Given the description of an element on the screen output the (x, y) to click on. 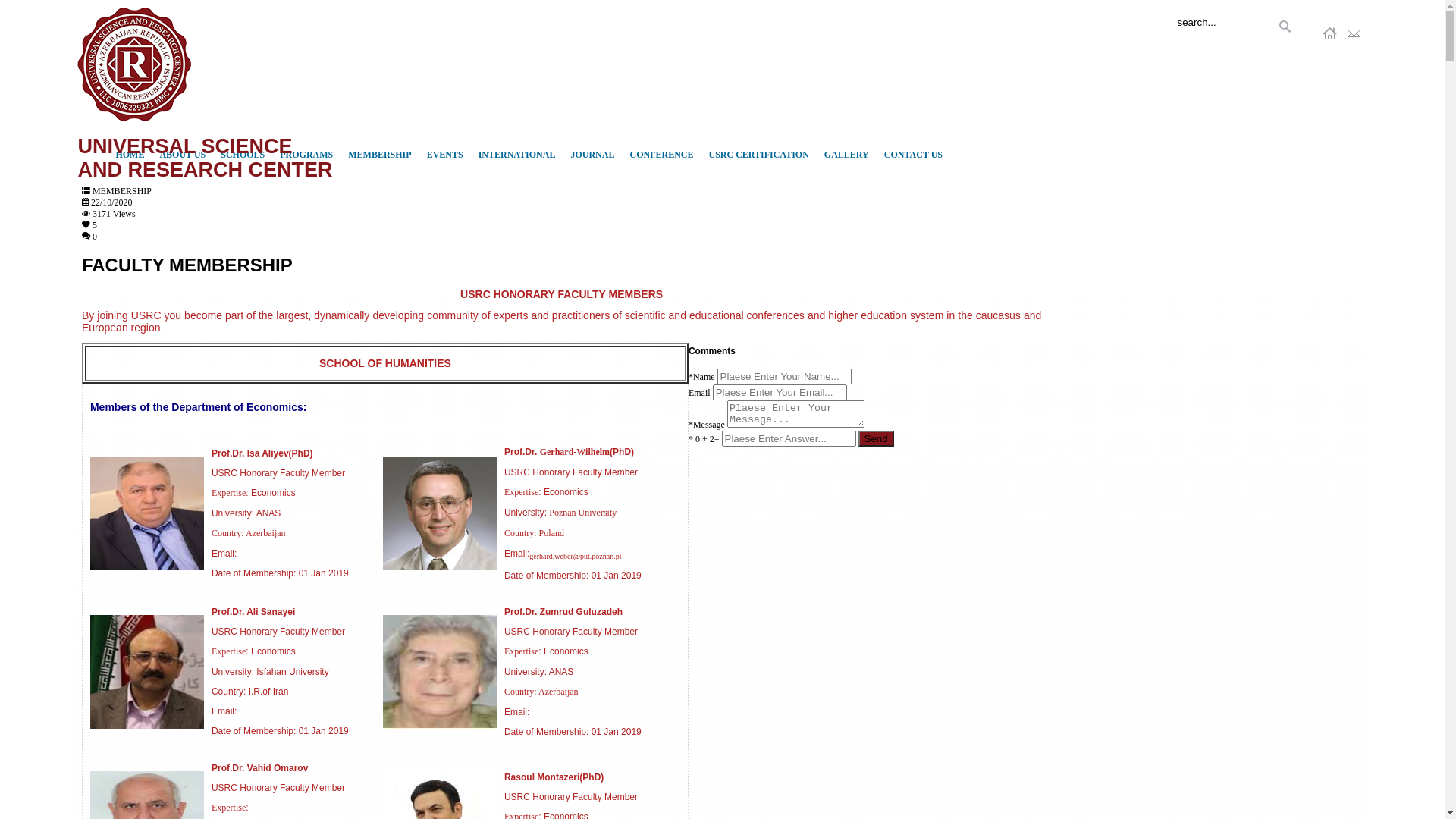
HOME Element type: text (129, 154)
MEMBERSHIP Element type: text (379, 154)
GALLERY Element type: text (846, 154)
INTERNATIONAL Element type: text (516, 154)
JOURNAL Element type: text (591, 154)
SCHOOLS Element type: text (242, 154)
Search Element type: text (1284, 26)
contact us Element type: hover (1353, 35)
CONFERENCE Element type: text (660, 154)
EVENTS Element type: text (444, 154)
UNIVERSAL SCIENCE
AND RESEARCH CENTER Element type: text (204, 147)
USRC CERTIFICATION Element type: text (757, 154)
CONTACT US Element type: text (913, 154)
PROGRAMS Element type: text (306, 154)
Send Element type: text (876, 438)
ABOUT US Element type: text (182, 154)
home Element type: hover (1329, 36)
